Given the description of an element on the screen output the (x, y) to click on. 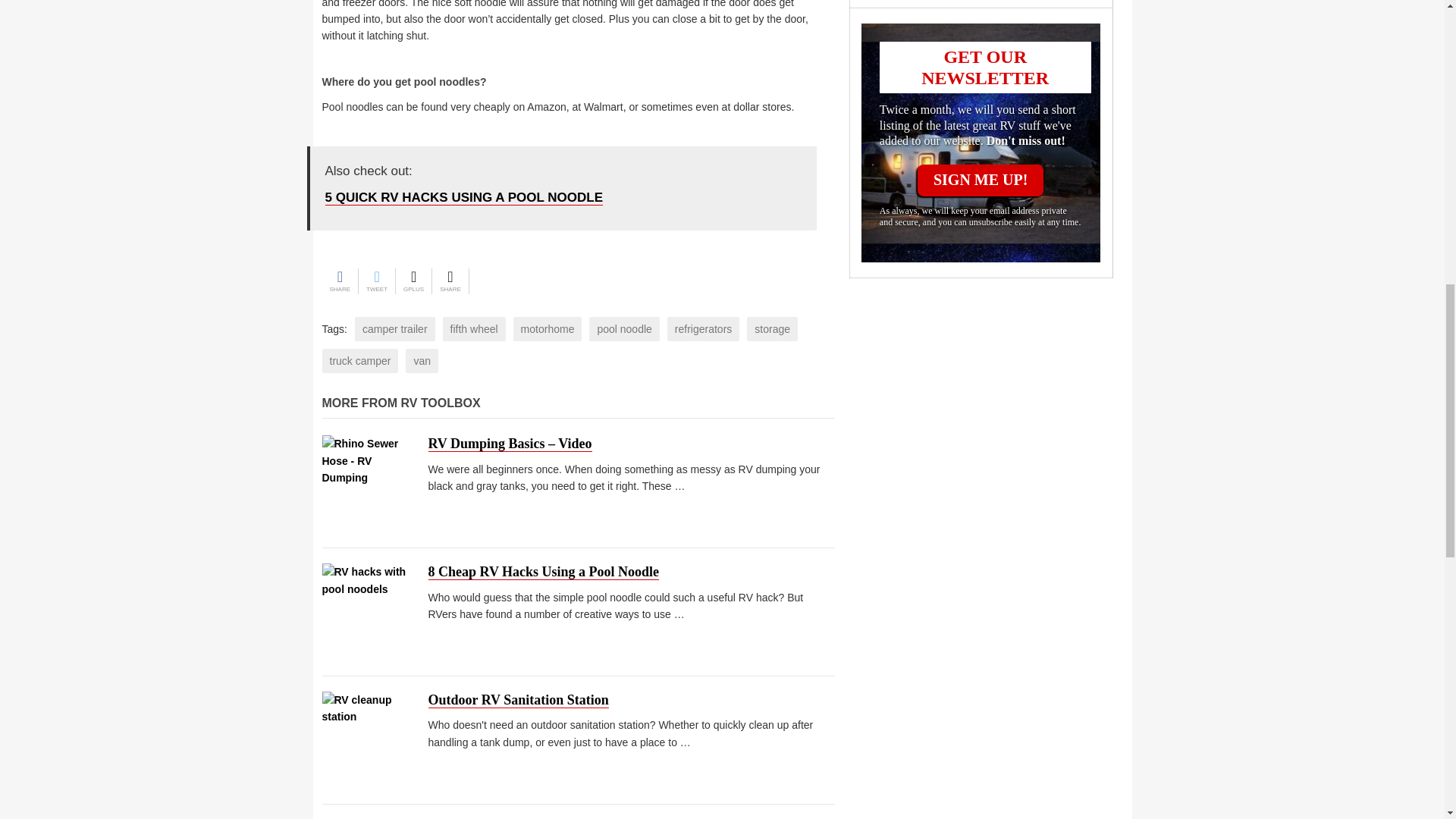
Outdoor RV Sanitation Station (518, 700)
8 Cheap RV Hacks Using a Pool Noodle (366, 611)
8 Cheap RV Hacks Using a Pool Noodle (543, 571)
Outdoor RV Sanitation Station (366, 739)
